Given the description of an element on the screen output the (x, y) to click on. 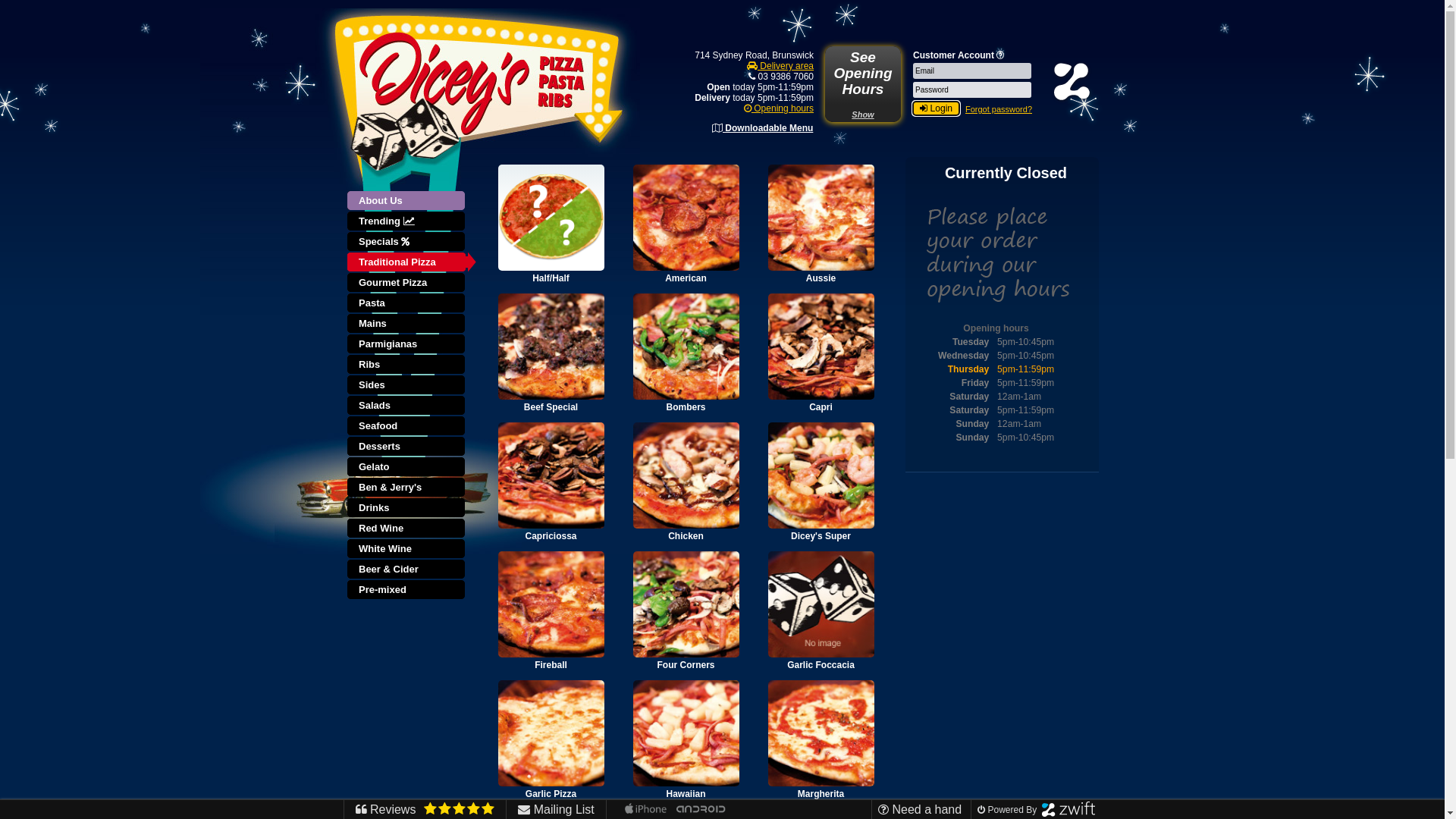
Gourmet Pizza Element type: text (407, 283)
White Wine Element type: text (407, 549)
Drinks Element type: text (407, 508)
Sides Element type: text (407, 385)
Delivery area Element type: text (779, 65)
About Us Element type: text (411, 201)
Salads Element type: text (407, 405)
Ribs Element type: text (407, 364)
Traditional Pizza Element type: text (407, 262)
Beer & Cider Element type: text (407, 569)
Seafood Element type: text (407, 426)
Powered By Element type: text (1034, 809)
Pre-mixed Element type: text (407, 590)
Mains Element type: text (407, 323)
Downloadable Menu Element type: text (762, 127)
Ben & Jerry's Element type: text (407, 487)
Opening hours Element type: text (778, 108)
Login Element type: text (936, 108)
Red Wine Element type: text (407, 528)
Gelato Element type: text (407, 467)
Specials Element type: text (407, 242)
Desserts Element type: text (407, 446)
Pasta Element type: text (407, 303)
Parmigianas Element type: text (407, 344)
Trending Element type: text (407, 221)
Show Element type: text (862, 114)
